Given the description of an element on the screen output the (x, y) to click on. 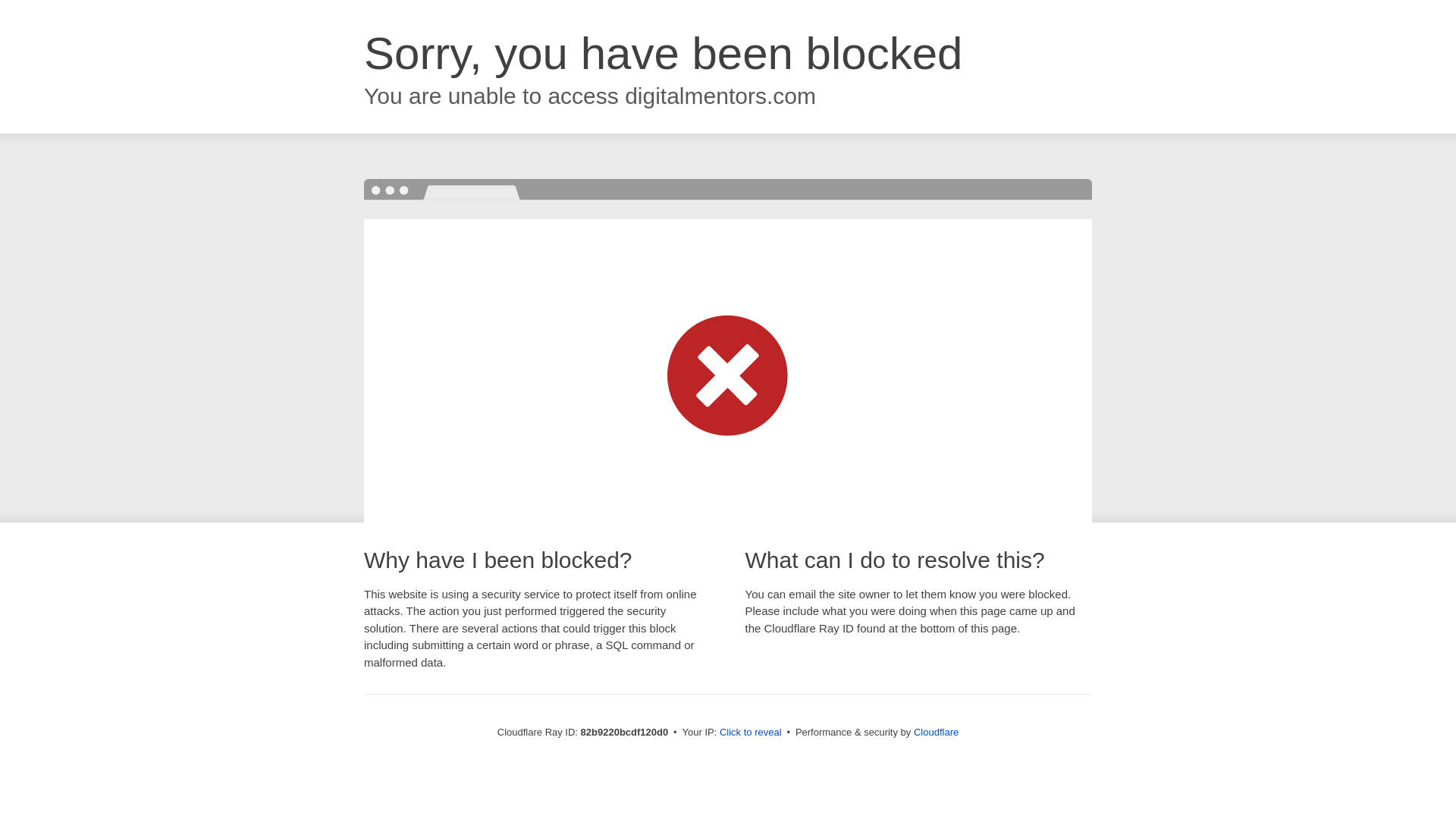
Click to reveal Element type: text (750, 732)
Cloudflare Element type: text (935, 731)
